Given the description of an element on the screen output the (x, y) to click on. 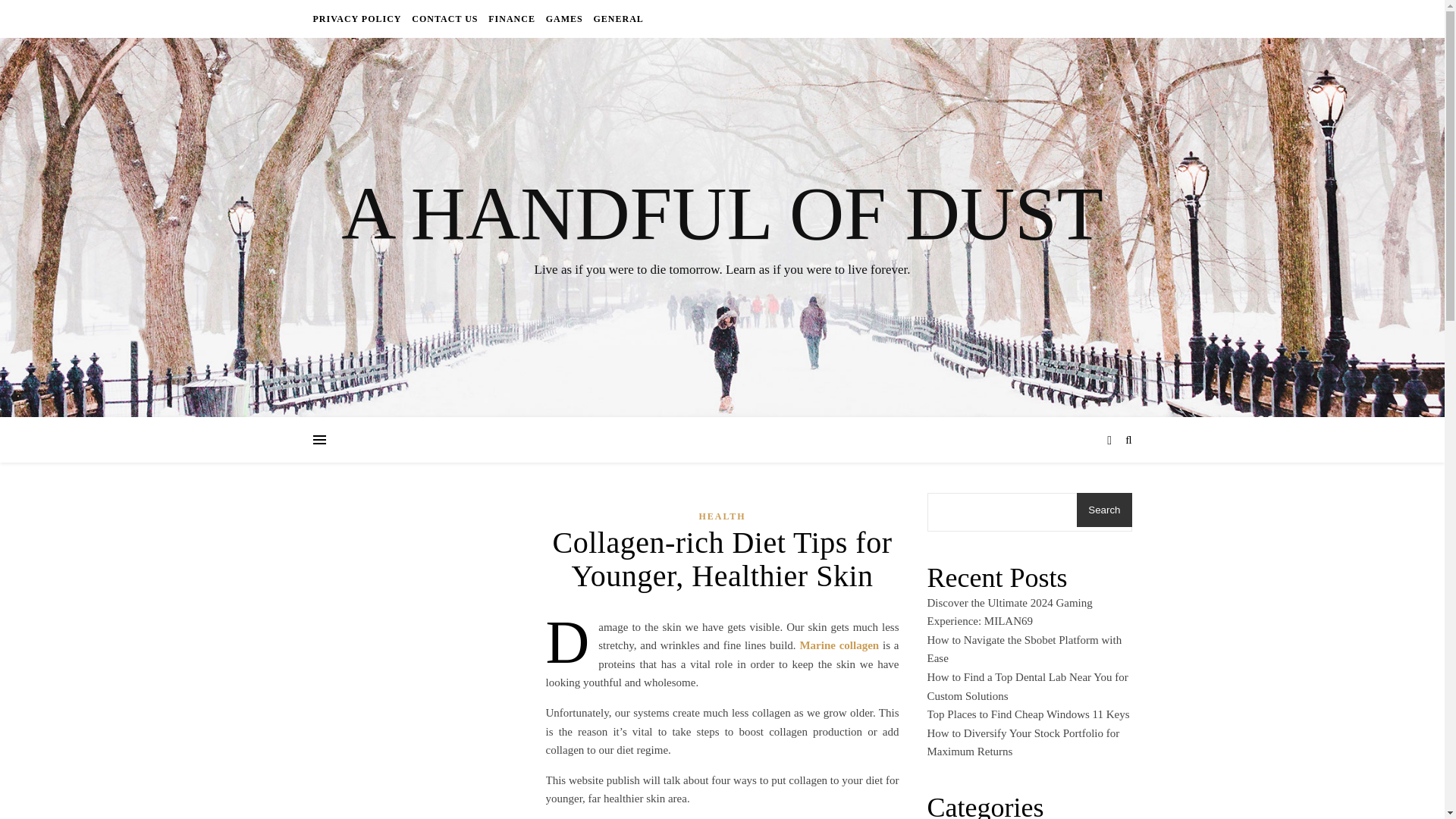
How to Navigate the Sbobet Platform with Ease (1023, 649)
How to Find a Top Dental Lab Near You for Custom Solutions (1026, 685)
GAMES (563, 18)
GENERAL (616, 18)
CONTACT US (444, 18)
Search (1104, 510)
Top Places to Find Cheap Windows 11 Keys (1027, 714)
PRIVACY POLICY (358, 18)
FINANCE (511, 18)
HEALTH (721, 516)
Marine collagen (839, 645)
How to Diversify Your Stock Portfolio for Maximum Returns (1022, 742)
Discover the Ultimate 2024 Gaming Experience: MILAN69 (1009, 612)
